Given the description of an element on the screen output the (x, y) to click on. 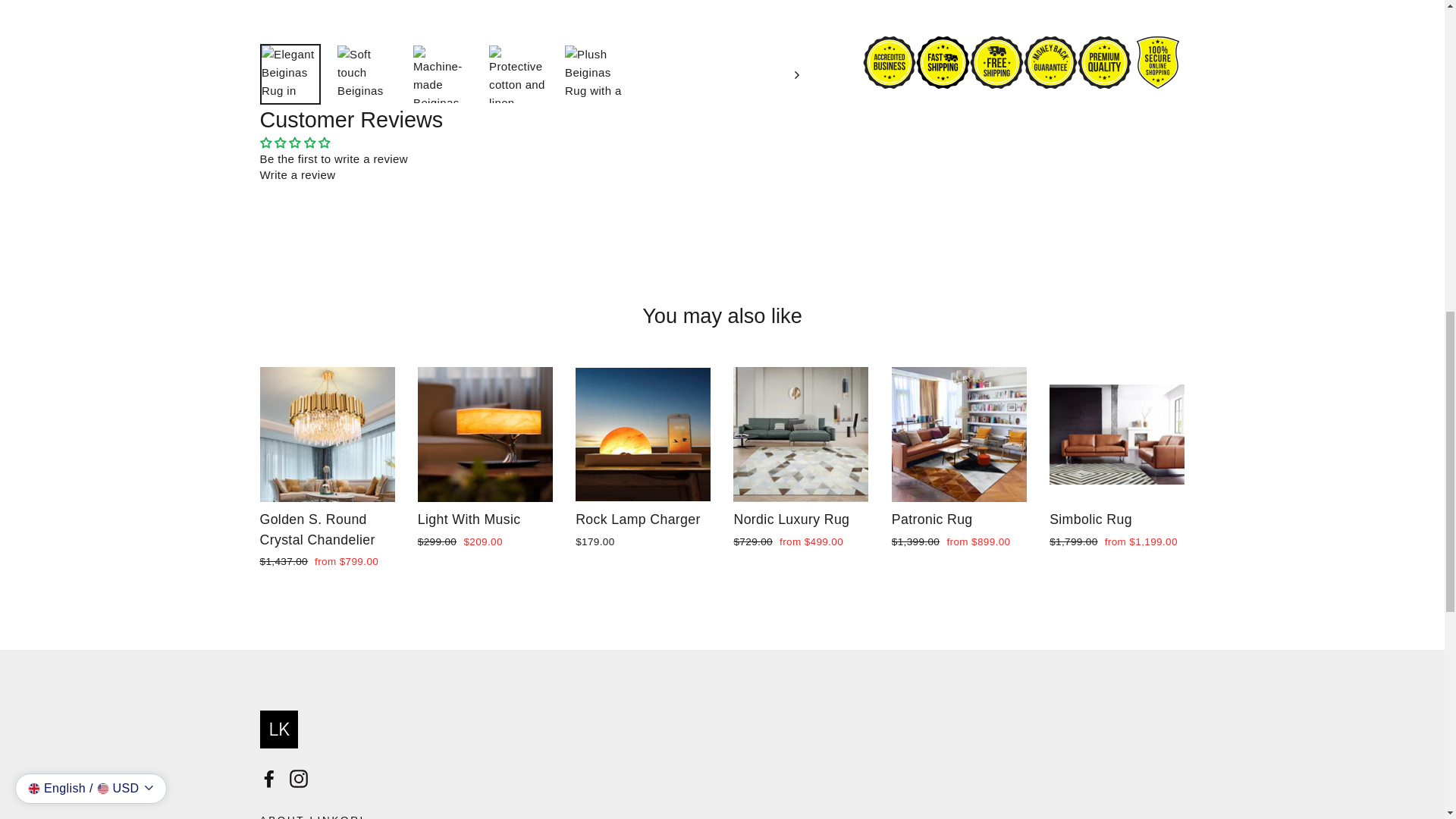
LINKORI on Instagram (298, 778)
LINKORI on Facebook (268, 778)
